Given the description of an element on the screen output the (x, y) to click on. 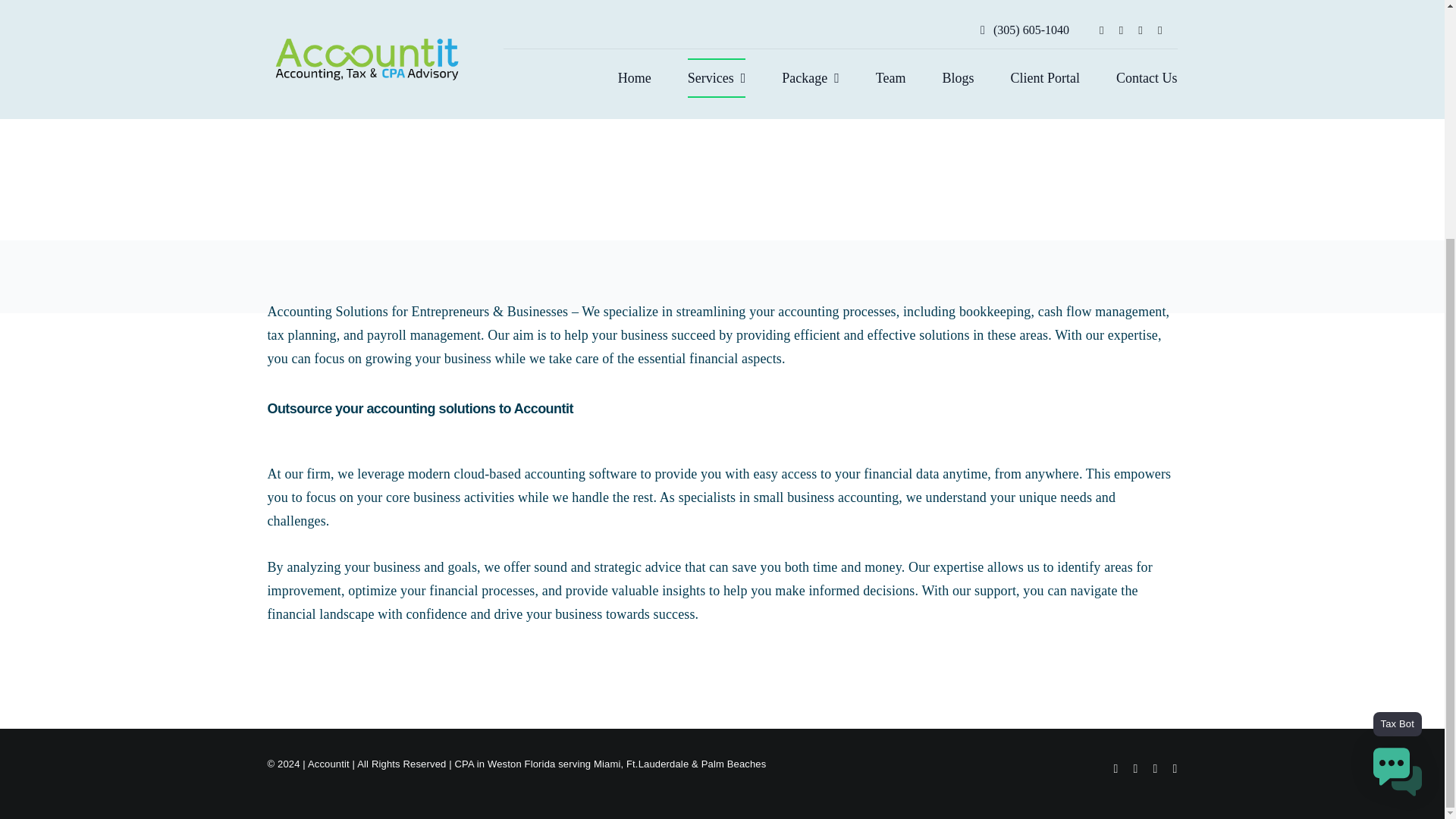
ac-testimonial-2 (964, 133)
